Given the description of an element on the screen output the (x, y) to click on. 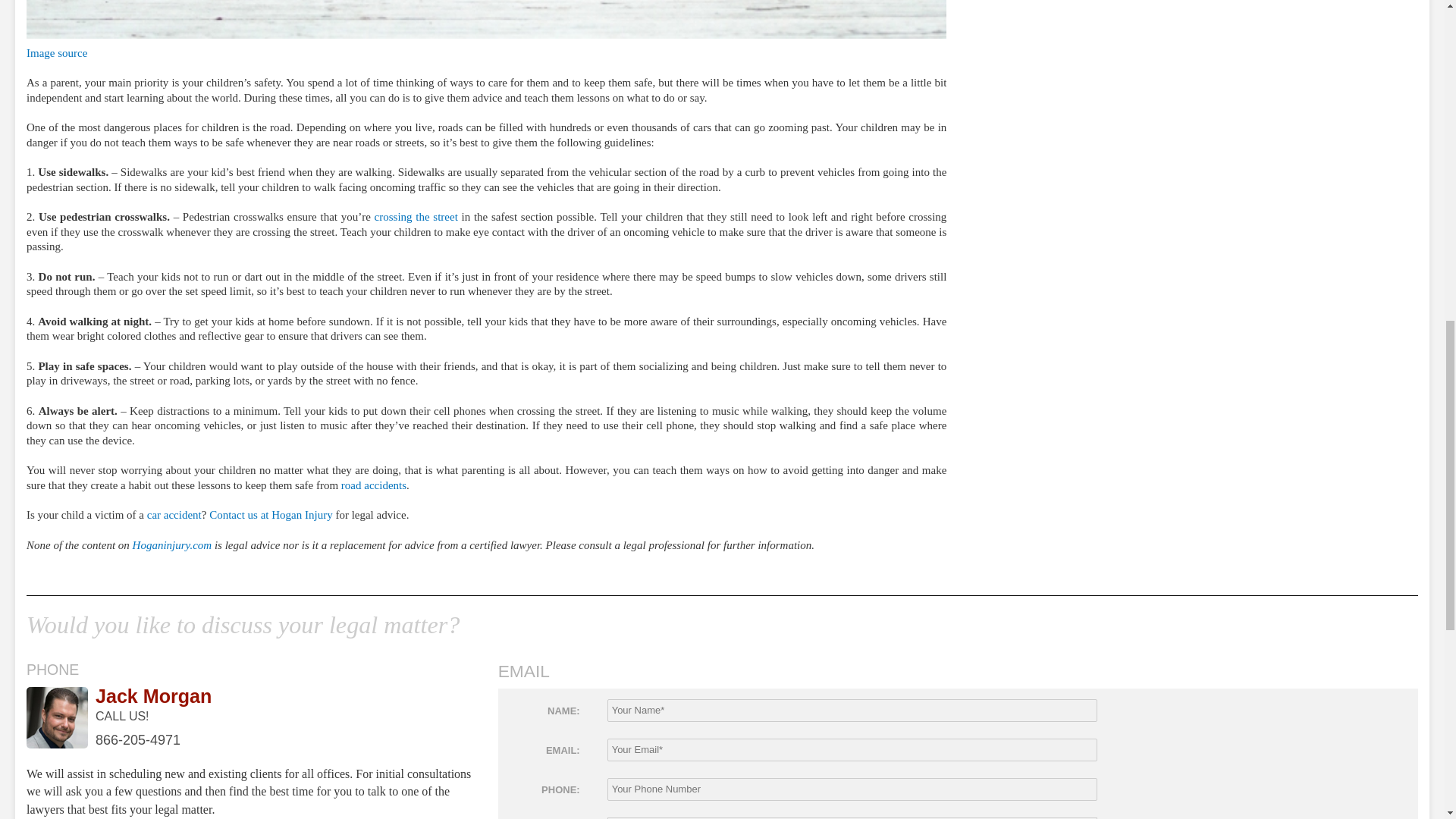
crossing the street (416, 216)
Contact us at Hogan Injury (270, 514)
Image source (56, 52)
car accident (173, 514)
Hoganinjury.com (172, 544)
road accidents (373, 485)
Child Safety on the Road (486, 19)
